Given the description of an element on the screen output the (x, y) to click on. 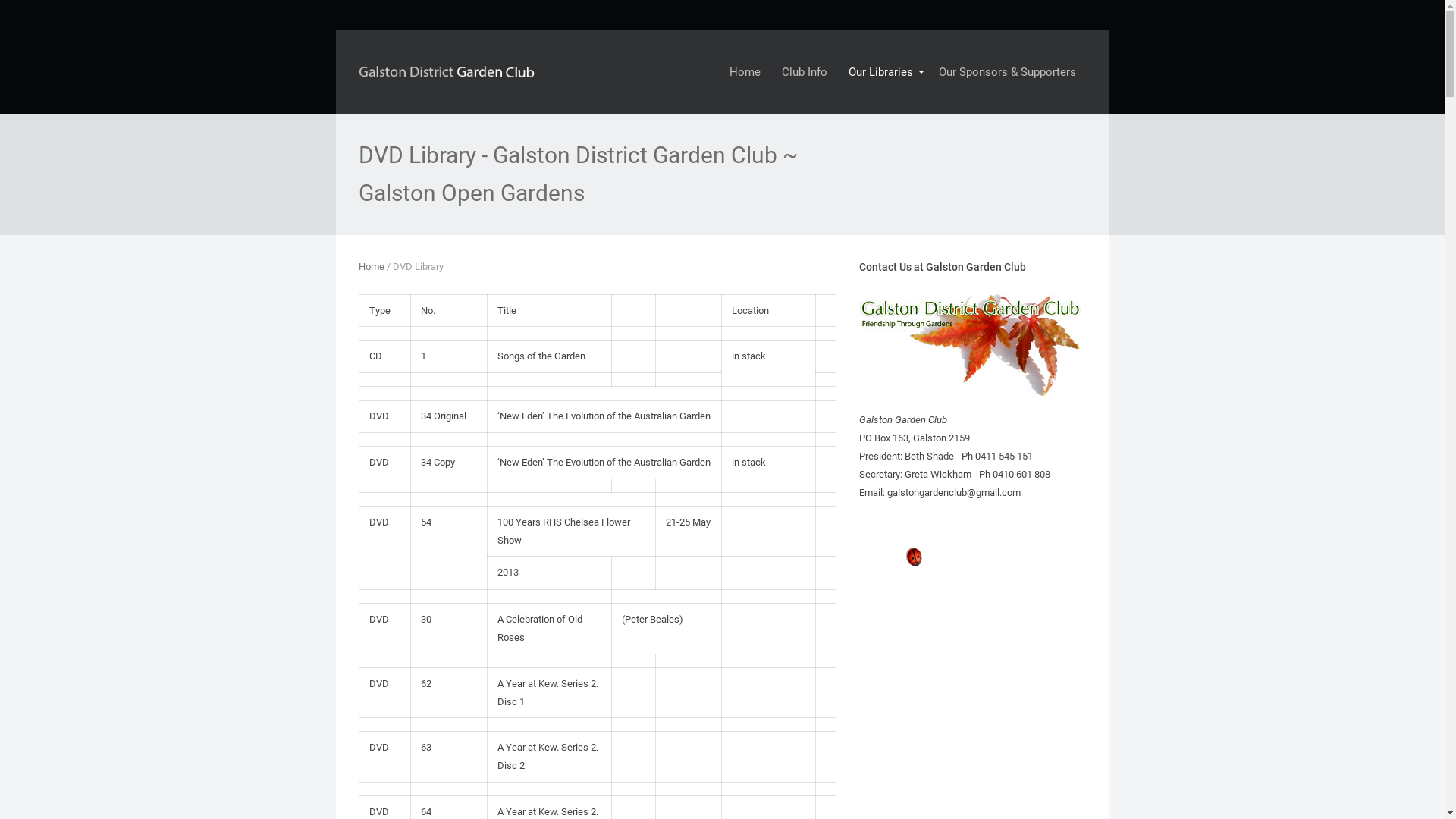
Galston District Garden Club ~ Galston Open Gardens Element type: hover (448, 68)
Our Libraries Element type: text (882, 72)
Our Sponsors & Supporters Element type: text (1007, 72)
Home Element type: text (370, 266)
Club Info Element type: text (803, 72)
Home Element type: text (744, 72)
